Given the description of an element on the screen output the (x, y) to click on. 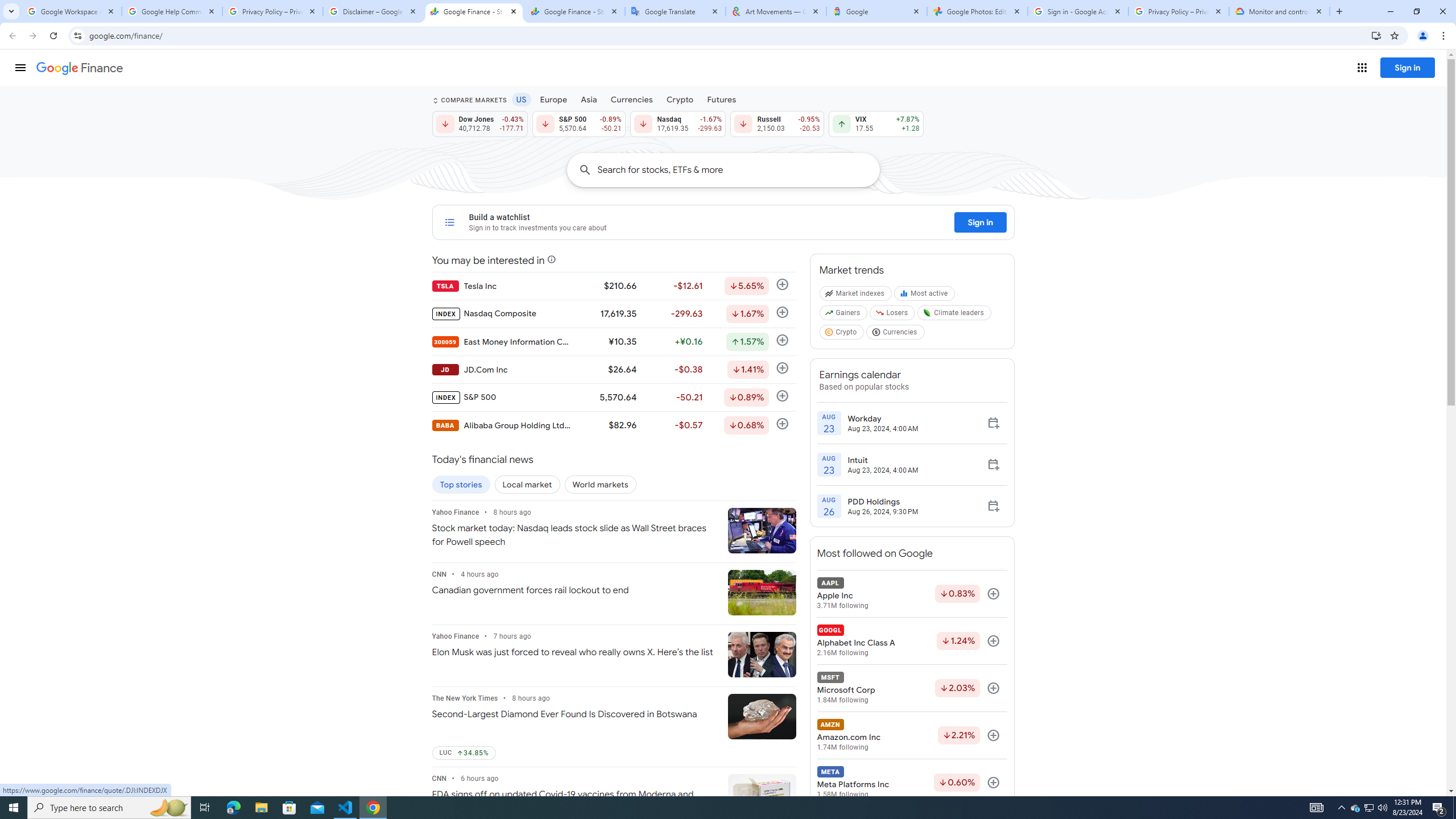
Russell 2,150.03 Down by 0.95% -20.53 (777, 123)
Add to calendar (993, 506)
Crypto (679, 99)
AMZN Amazon.com Inc 1.74M following Down by 2.21% Follow (911, 735)
Top stories (460, 484)
Market indexes (855, 295)
Currencies (896, 334)
VIX 17.55 Up by 7.87% +1.28 (875, 123)
